Given the description of an element on the screen output the (x, y) to click on. 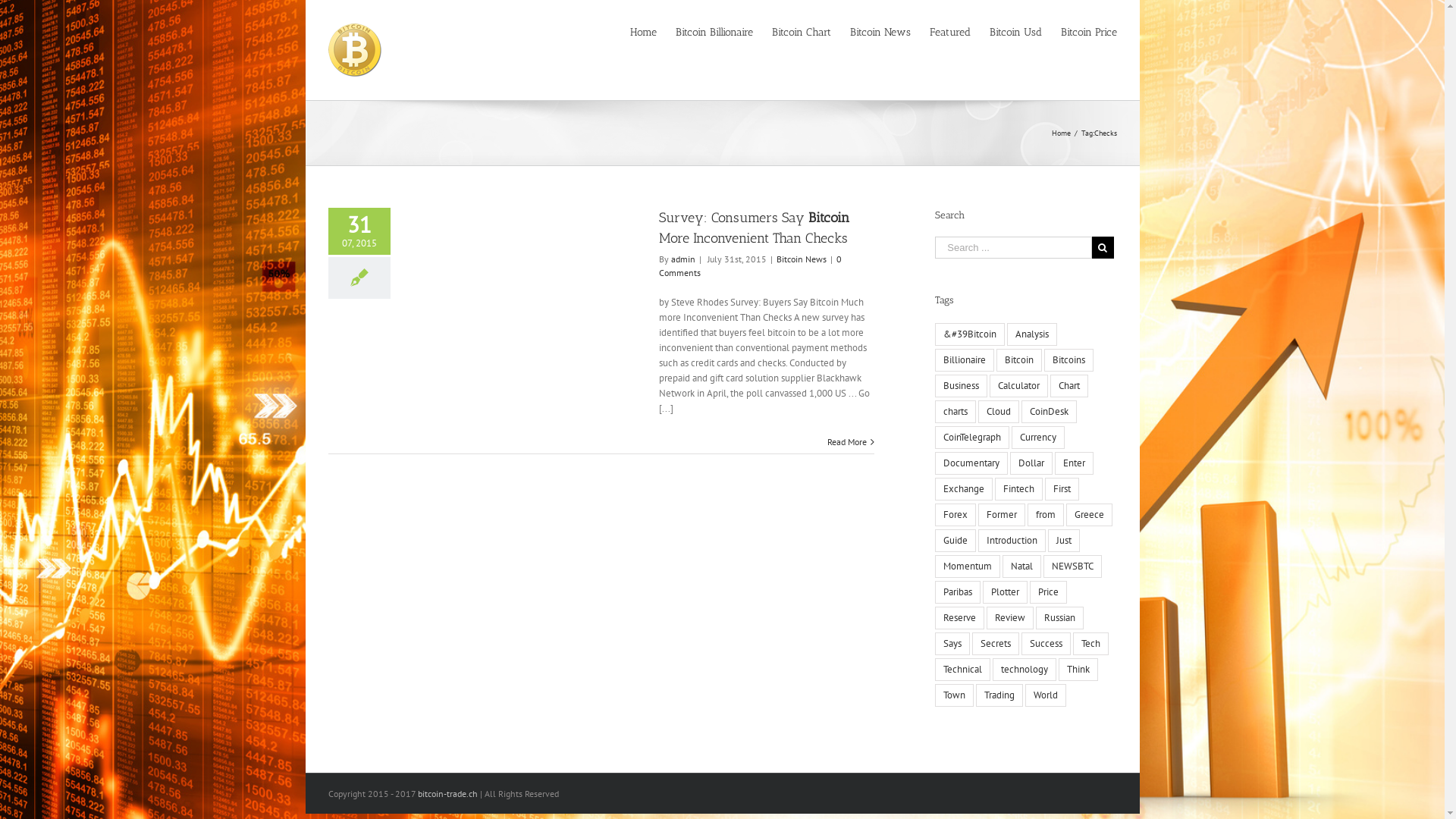
0 Comments Element type: text (749, 265)
Featured Element type: text (949, 32)
Bitcoin Element type: text (1018, 359)
Bitcoin Price Element type: text (1088, 32)
Think Element type: text (1078, 669)
Home Element type: text (1060, 133)
Bitcoin Usd Element type: text (1014, 32)
&#39Bitcoin Element type: text (969, 334)
Home Element type: text (642, 32)
Success Element type: text (1045, 643)
Analysis Element type: text (1032, 334)
CoinTelegraph Element type: text (972, 437)
Cloud Element type: text (998, 411)
Price Element type: text (1047, 591)
Says Element type: text (952, 643)
Billionaire Element type: text (964, 359)
Business Element type: text (961, 385)
Secrets Element type: text (995, 643)
bitcoin-trade.ch Element type: text (446, 793)
Calculator Element type: text (1018, 385)
Tech Element type: text (1090, 643)
Forex Element type: text (955, 514)
Paribas Element type: text (957, 591)
Technical Element type: text (962, 669)
Currency Element type: text (1037, 437)
Enter Element type: text (1073, 462)
from Element type: text (1045, 514)
Town Element type: text (954, 695)
CoinDesk Element type: text (1048, 411)
Bitcoin Chart Element type: text (801, 32)
Dollar Element type: text (1031, 462)
First Element type: text (1061, 488)
Documentary Element type: text (971, 462)
Read More Element type: text (846, 441)
technology Element type: text (1024, 669)
Greece Element type: text (1089, 514)
Chart Element type: text (1069, 385)
Introduction Element type: text (1011, 540)
admin Element type: text (682, 258)
Survey: Consumers Say Bitcoin More Inconvenient Than Checks Element type: text (753, 227)
Reserve Element type: text (959, 617)
Guide Element type: text (955, 540)
NEWSBTC Element type: text (1072, 566)
charts Element type: text (955, 411)
Fintech Element type: text (1018, 488)
Momentum Element type: text (967, 566)
Plotter Element type: text (1004, 591)
Review Element type: text (1009, 617)
Bitcoin News Element type: text (879, 32)
Exchange Element type: text (963, 488)
World Element type: text (1045, 695)
Just Element type: text (1063, 540)
Russian Element type: text (1059, 617)
Bitcoins Element type: text (1068, 359)
Natal Element type: text (1021, 566)
Trading Element type: text (998, 695)
Bitcoin News Element type: text (801, 258)
Bitcoin Billionaire Element type: text (713, 32)
Former Element type: text (1001, 514)
